Given the description of an element on the screen output the (x, y) to click on. 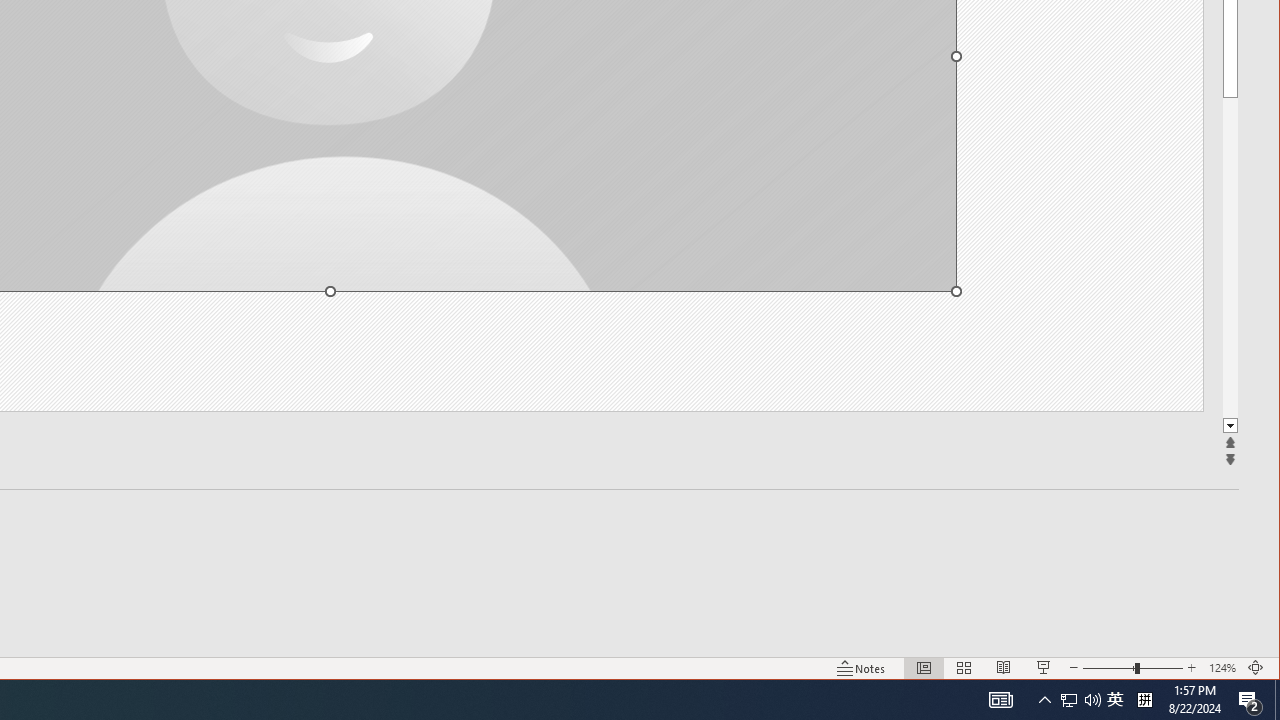
Show desktop (1115, 699)
Page down (1069, 699)
Zoom 124% (1277, 699)
Q2790: 100% (1230, 258)
User Promoted Notification Area (1222, 668)
Notification Chevron (1092, 699)
